Given the description of an element on the screen output the (x, y) to click on. 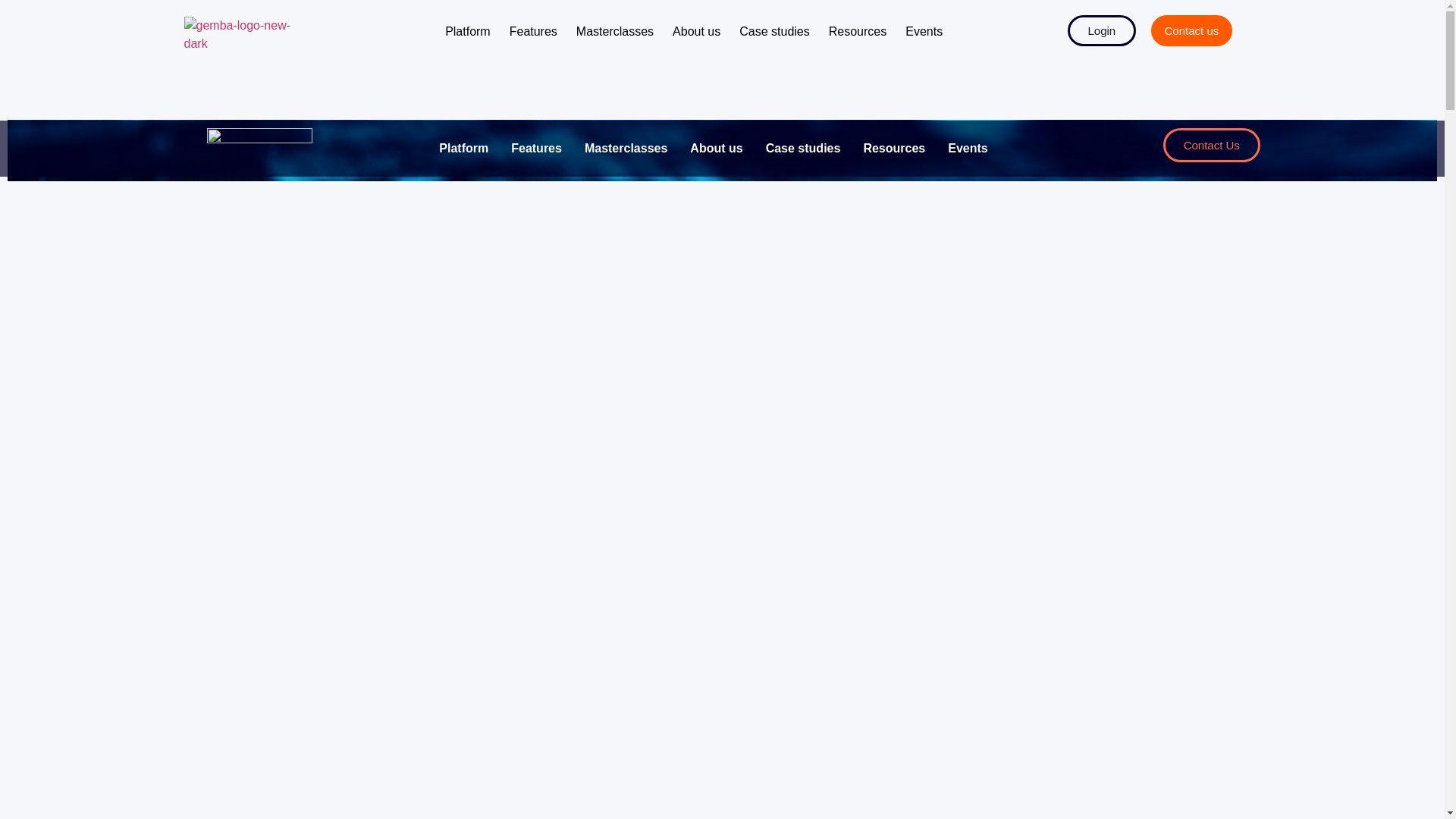
Events (961, 147)
Platform (467, 31)
gemba-logo-new-dark (238, 34)
Masterclasses (614, 31)
About us (710, 147)
Case studies (797, 147)
Features (530, 147)
Contact Us (1211, 144)
  Login   (1101, 30)
Contact us (1192, 30)
  Login   (1064, 26)
About us (696, 31)
Resources (887, 147)
Case studies (774, 31)
